Given the description of an element on the screen output the (x, y) to click on. 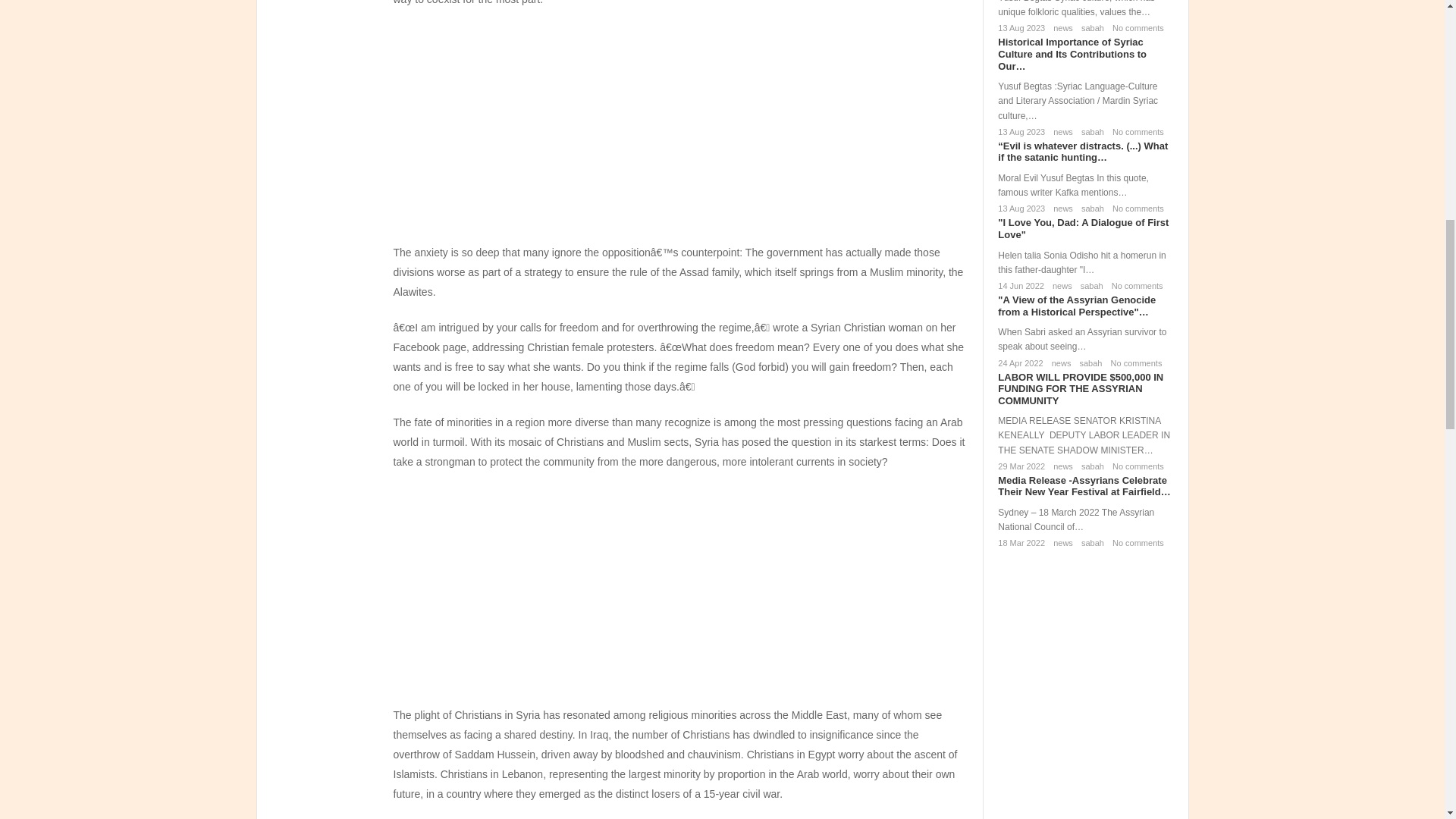
Advertisement (680, 593)
Advertisement (680, 131)
